Given the description of an element on the screen output the (x, y) to click on. 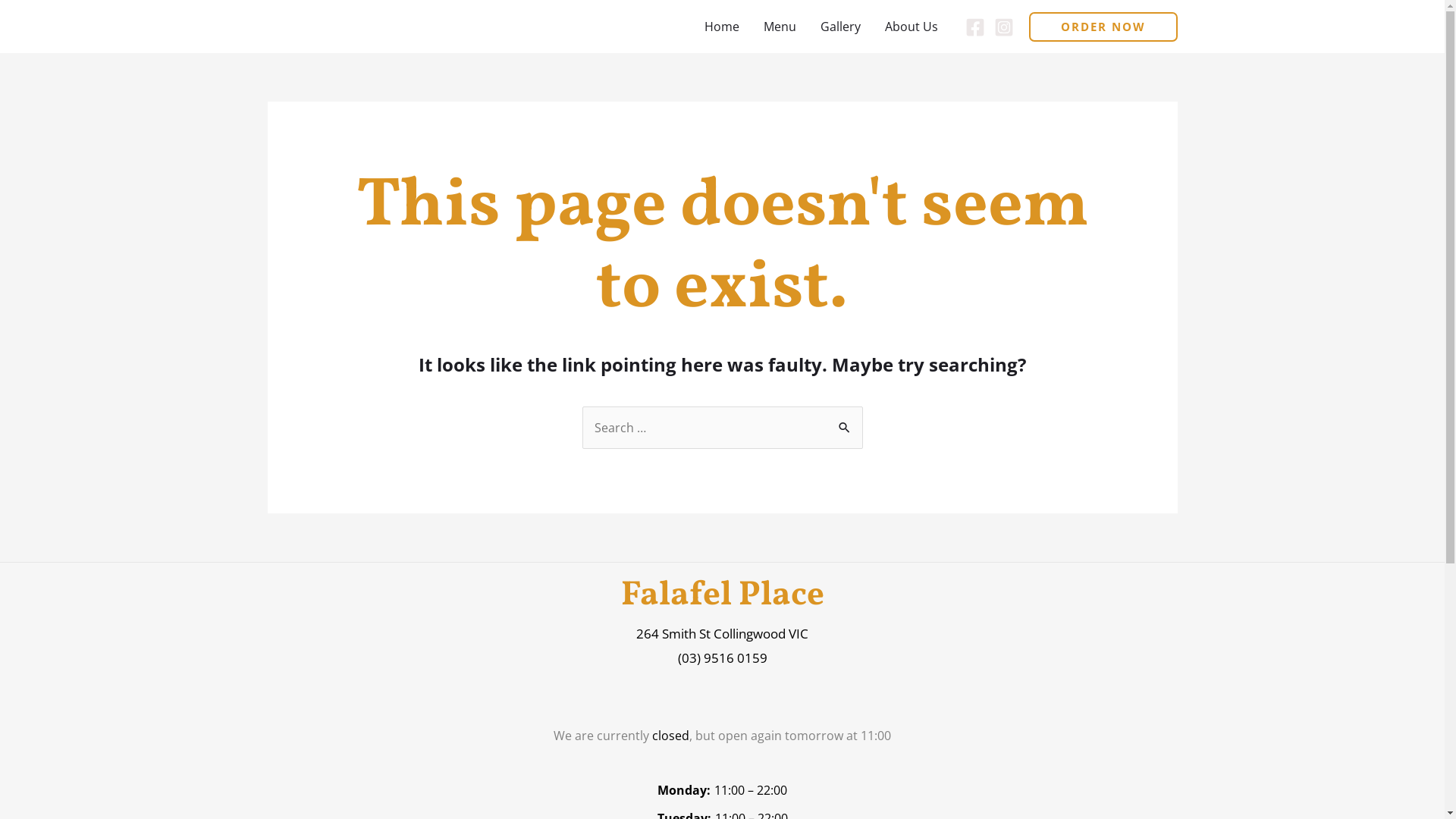
Search Element type: text (845, 421)
Menu Element type: text (778, 26)
Home Element type: text (720, 26)
ORDER NOW Element type: text (1102, 26)
Gallery Element type: text (840, 26)
About Us Element type: text (910, 26)
